Given the description of an element on the screen output the (x, y) to click on. 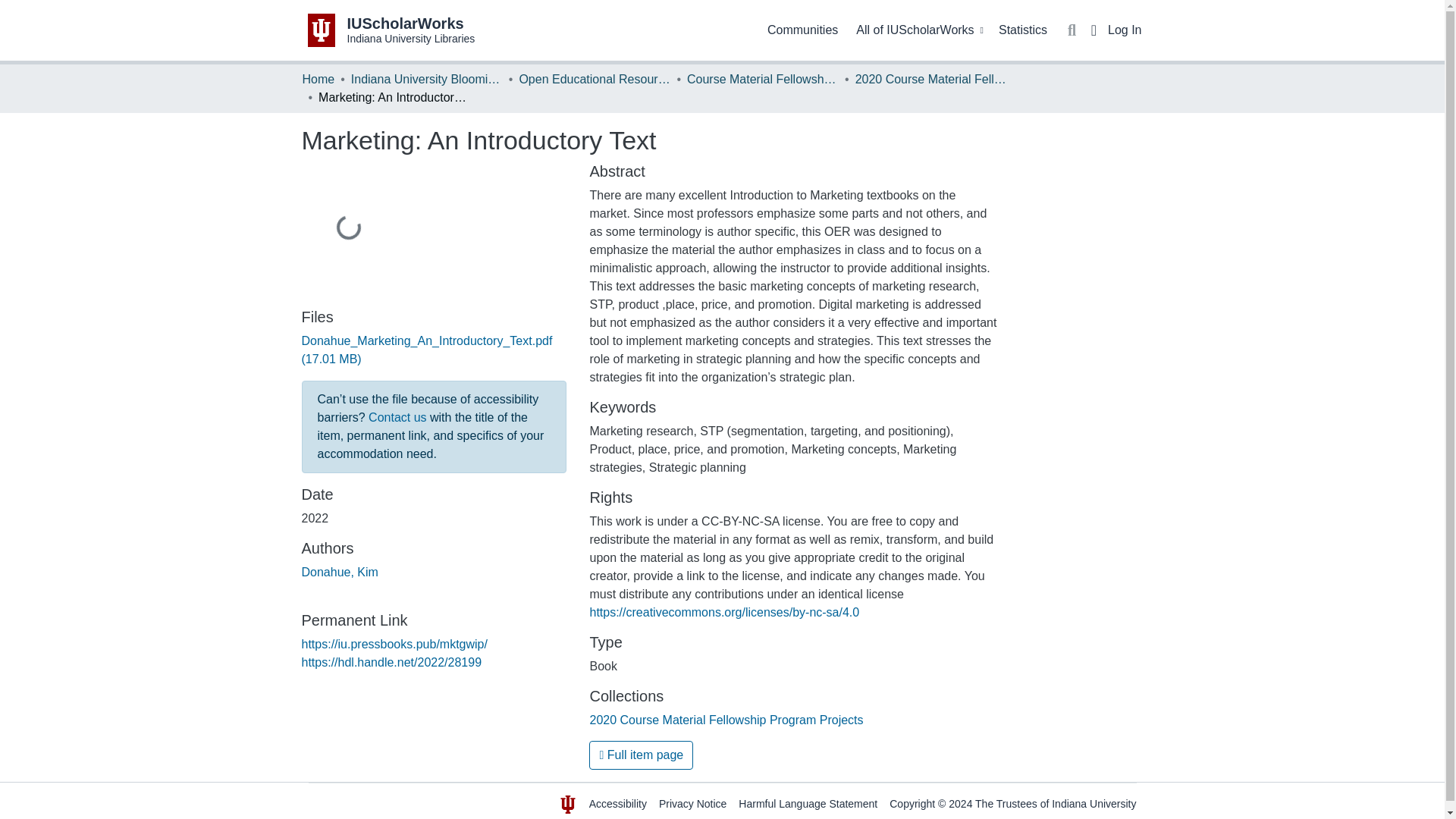
Accessibility (617, 803)
Harmful Language Statement (807, 803)
Communities (802, 30)
Language switch (1093, 30)
Full item page (641, 755)
Course Material Fellowship Program (762, 79)
Home (317, 79)
Indiana University Bloomington (426, 79)
Donahue, Kim (339, 571)
Copyright (911, 803)
